Given the description of an element on the screen output the (x, y) to click on. 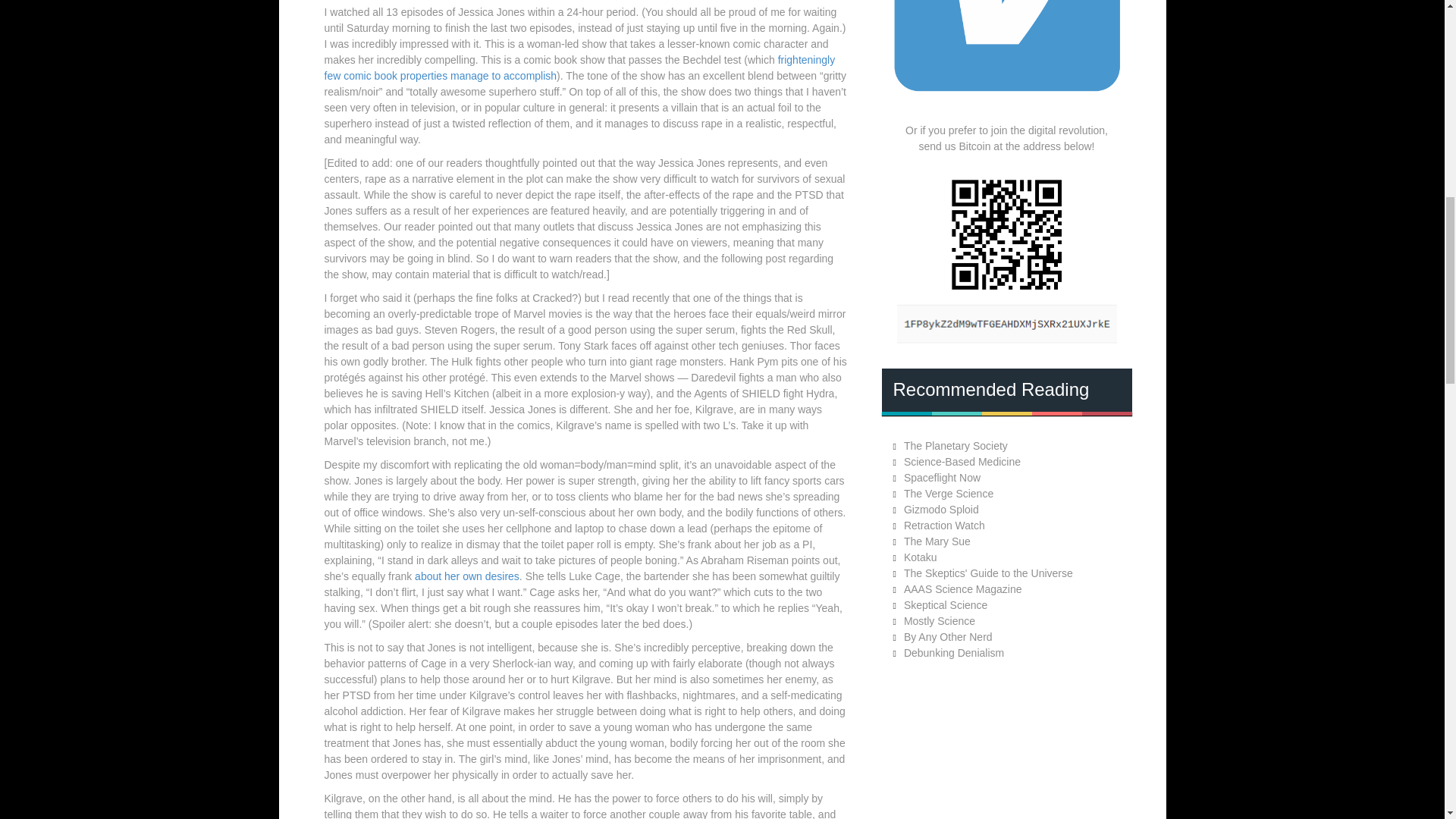
The Planetary Society (955, 445)
Science-Based Medicine (962, 461)
frighteningly few comic book properties manage to accomplish (579, 67)
The Verge Science (948, 493)
The Mary Sue (937, 541)
Kotaku (920, 557)
Skeptical Science (946, 604)
Mostly Science (939, 621)
Retraction Watch (944, 525)
The Skeptics' Guide to the Universe (988, 573)
